Given the description of an element on the screen output the (x, y) to click on. 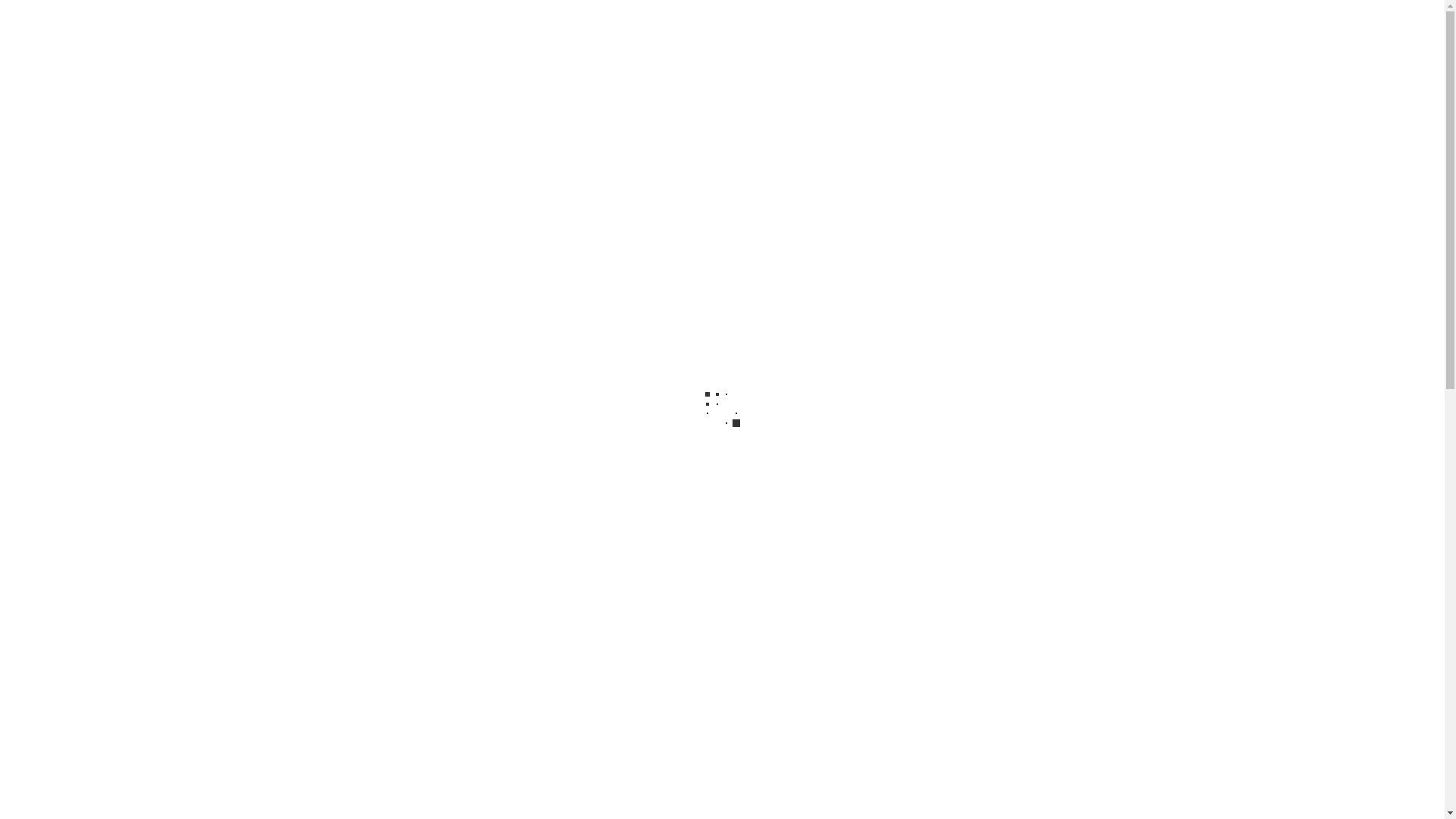
LES DETAILS Element type: text (892, 440)
MES IMAGES Element type: text (721, 487)
A PROPOS DE MOI Element type: text (619, 441)
MES COACHINGS Element type: text (759, 440)
MES COLLABORATIONS Element type: text (579, 488)
ACCUEIL Element type: text (503, 440)
CONTACT Element type: text (823, 488)
MES TARIFS Element type: text (1010, 440)
0797609242 Element type: text (414, 441)
